Given the description of an element on the screen output the (x, y) to click on. 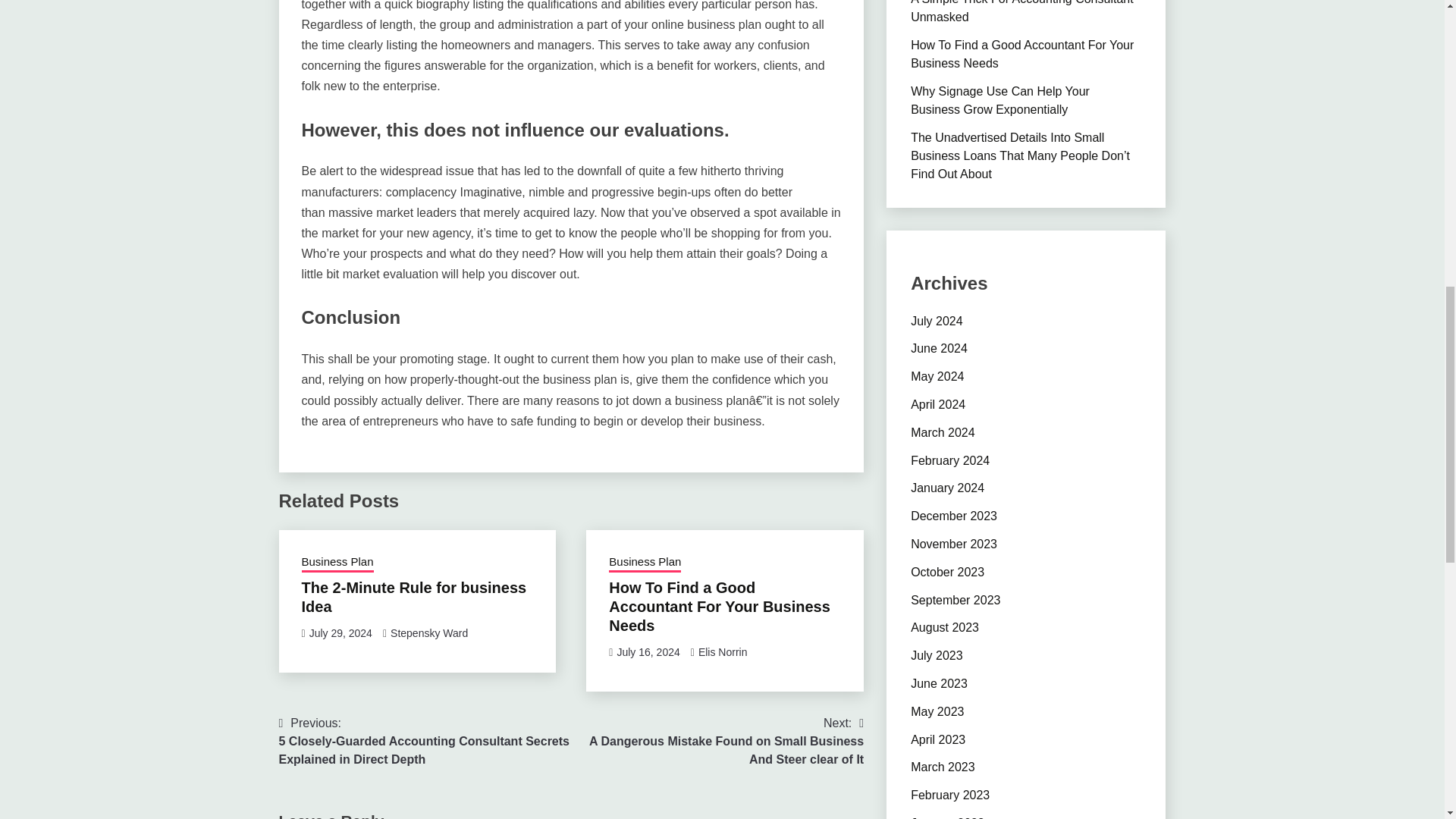
A Simple Trick For Accounting Consultant Unmasked (1021, 11)
Business Plan (337, 563)
How To Find a Good Accountant For Your Business Needs (718, 606)
Elis Norrin (723, 652)
The 2-Minute Rule for business Idea (414, 597)
Business Plan (644, 563)
July 16, 2024 (647, 652)
Stepensky Ward (428, 633)
July 29, 2024 (340, 633)
